Given the description of an element on the screen output the (x, y) to click on. 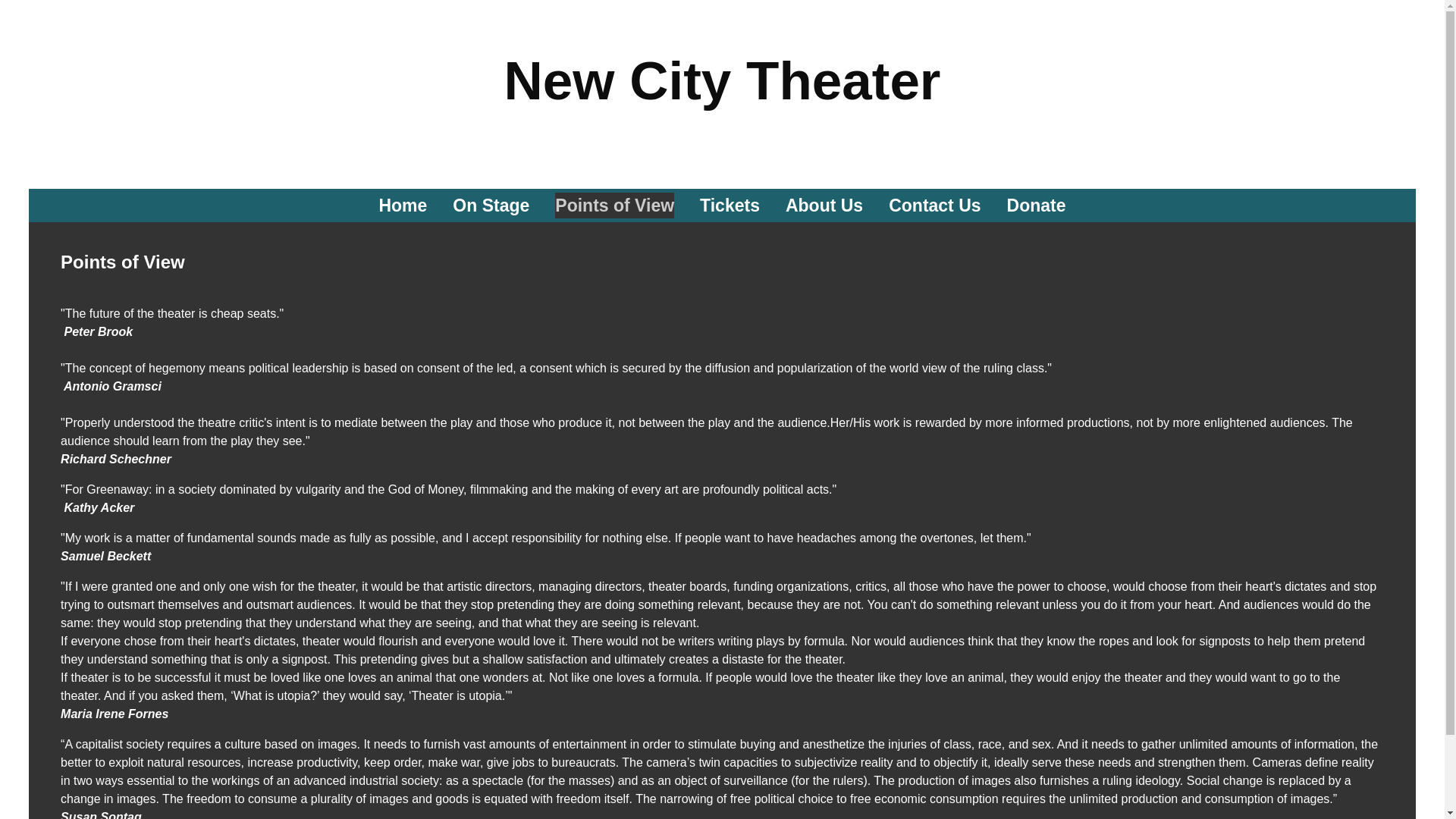
Tickets (730, 205)
New City Theater (721, 92)
About Us (824, 205)
Home (402, 205)
Contact Us (933, 205)
Points of View (614, 205)
On Stage (490, 205)
Donate (1036, 205)
